Given the description of an element on the screen output the (x, y) to click on. 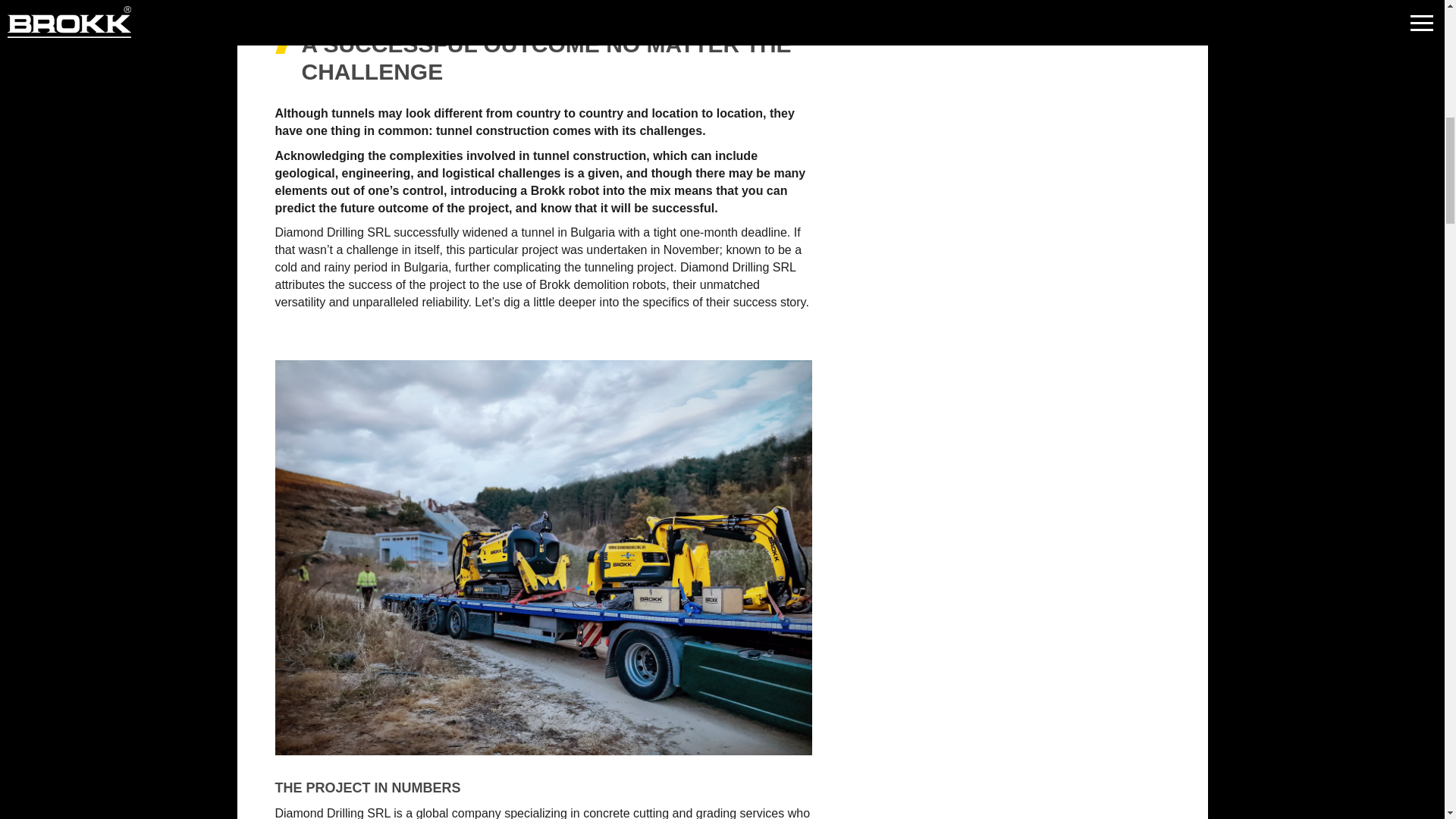
Global site (167, 66)
Go back (1333, 67)
